Given the description of an element on the screen output the (x, y) to click on. 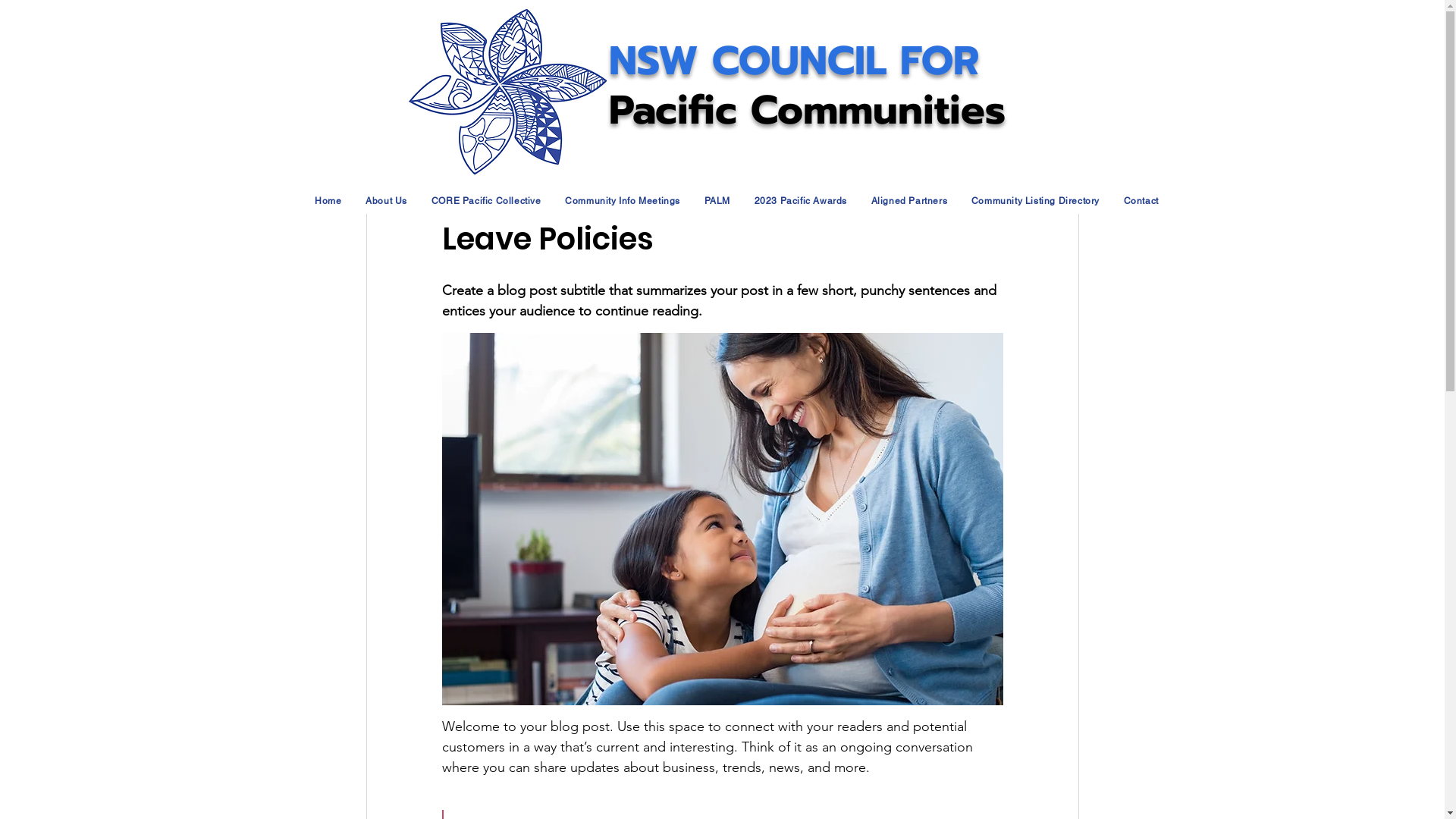
Media Element type: text (574, 33)
2023 Pacific Awards Element type: text (800, 200)
Community Listing Directory Element type: text (1035, 200)
Contact Element type: text (1141, 200)
Events Element type: text (746, 33)
PALM Element type: text (716, 200)
Community Info Meetings Element type: text (622, 200)
About Us Element type: text (385, 200)
Publications Element type: text (659, 33)
CORE Pacific Collective Element type: text (485, 200)
Aligned Partners Element type: text (908, 200)
Home Element type: text (328, 200)
Admin Element type: text (480, 137)
All Posts Element type: text (391, 33)
